Given the description of an element on the screen output the (x, y) to click on. 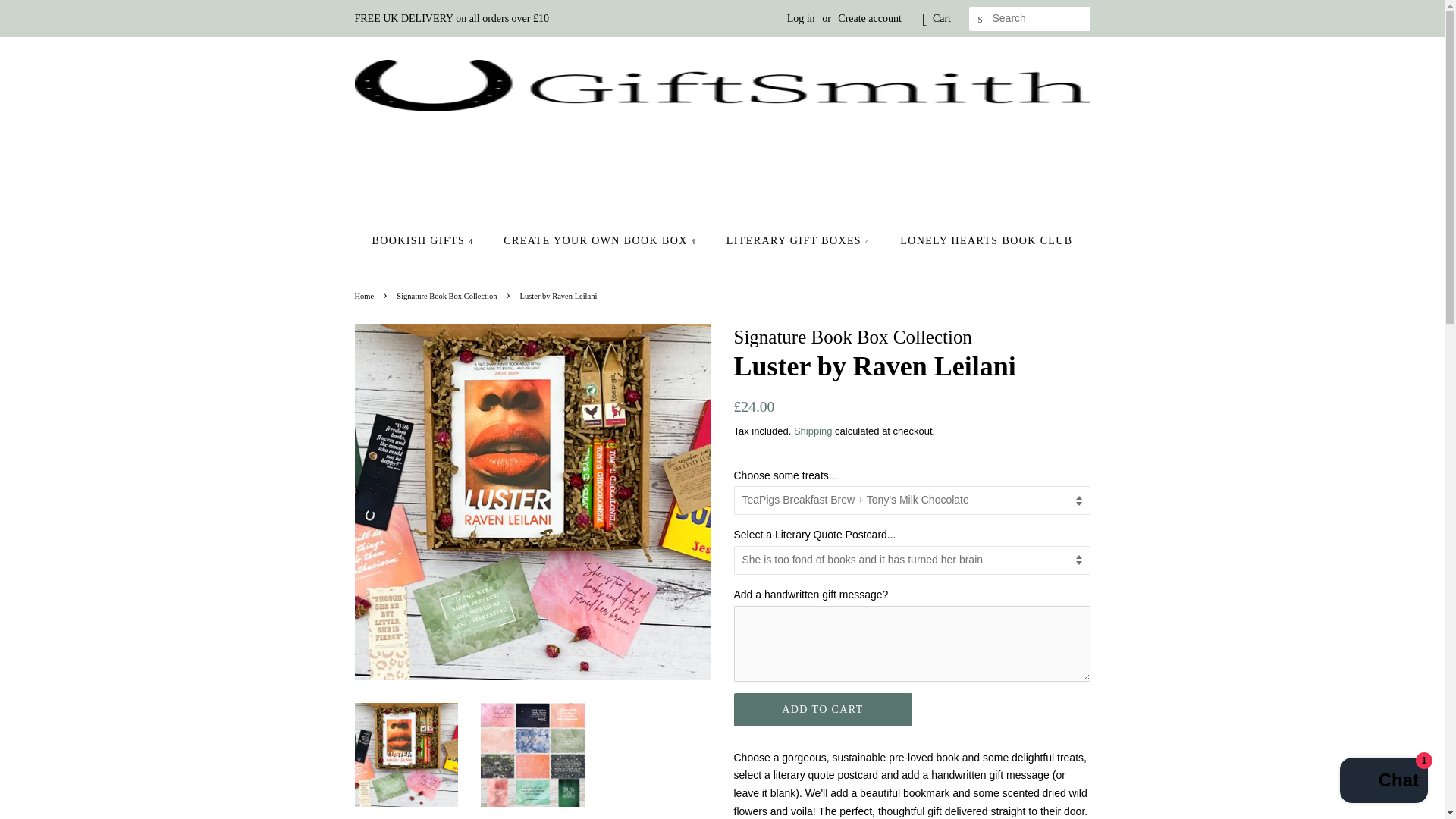
Shopify online store chat (1383, 781)
Create account (869, 18)
Log in (801, 18)
BOOKISH GIFTS (429, 240)
Cart (941, 18)
Back to the frontpage (366, 295)
SEARCH (980, 18)
